Given the description of an element on the screen output the (x, y) to click on. 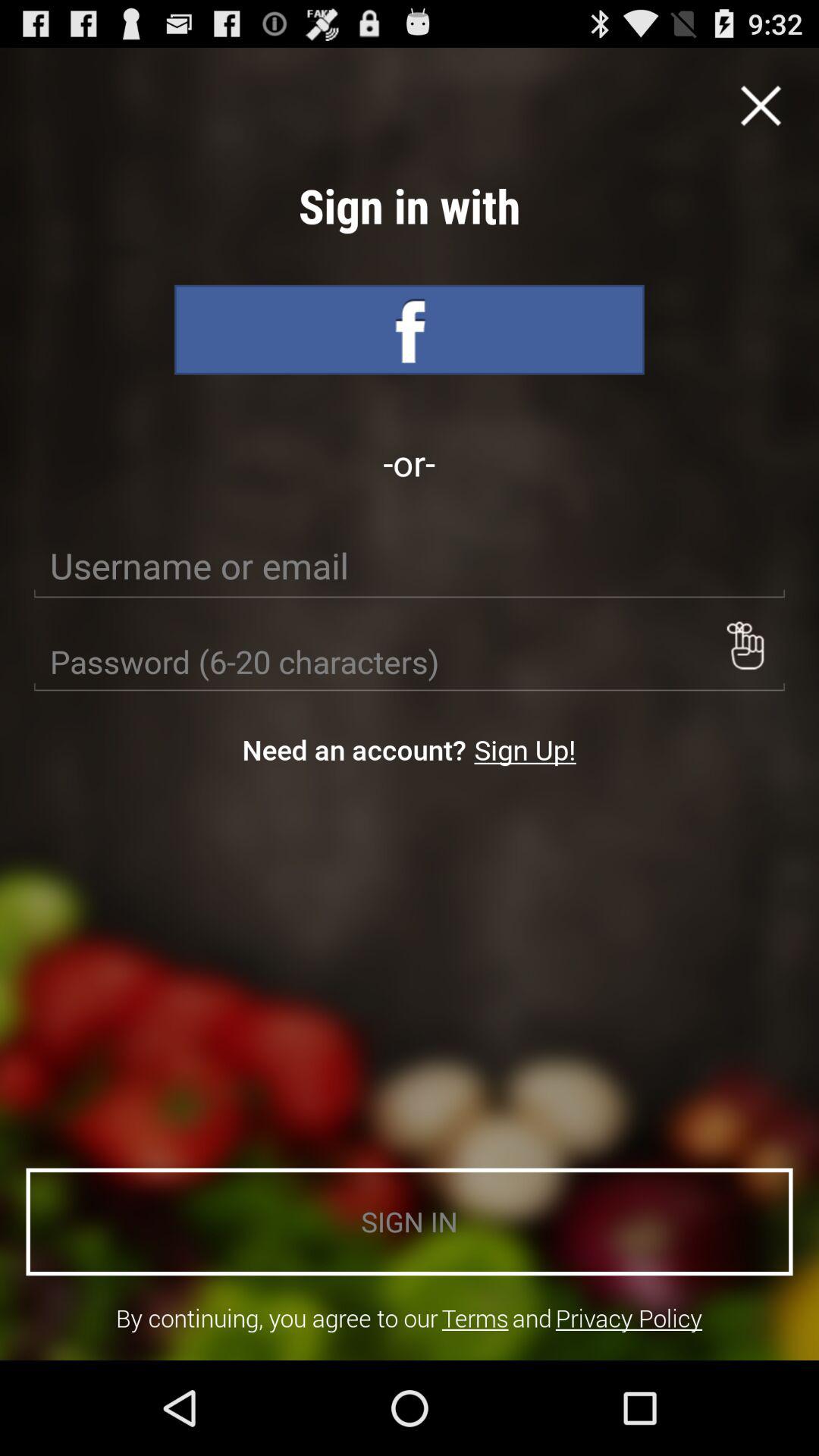
choose icon below the -or- (409, 566)
